Given the description of an element on the screen output the (x, y) to click on. 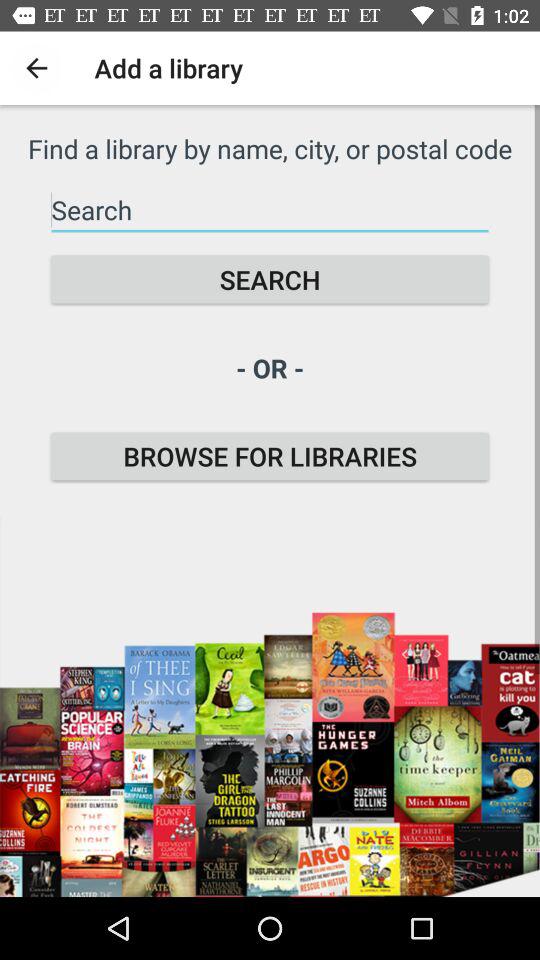
click the icon above search item (269, 210)
